Given the description of an element on the screen output the (x, y) to click on. 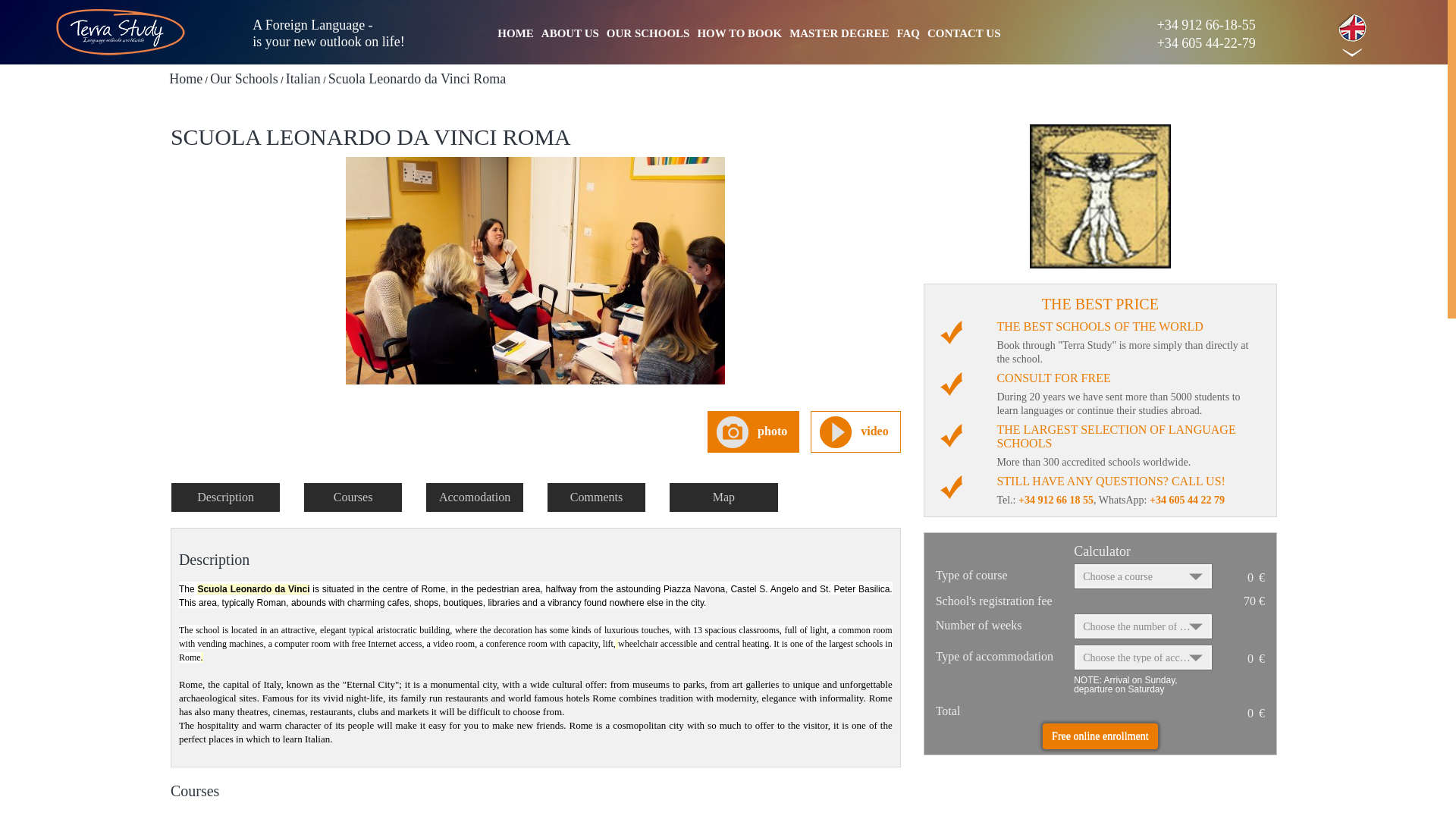
MASTER DEGREE (838, 34)
Free online enrollment (1099, 736)
ABOUT US (569, 34)
CONTACT US (964, 34)
OUR SCHOOLS (648, 34)
FAQ (908, 34)
Scuola Leonardo da Vinci Roma (535, 283)
HOME (515, 34)
HOW TO BOOK (739, 34)
